Given the description of an element on the screen output the (x, y) to click on. 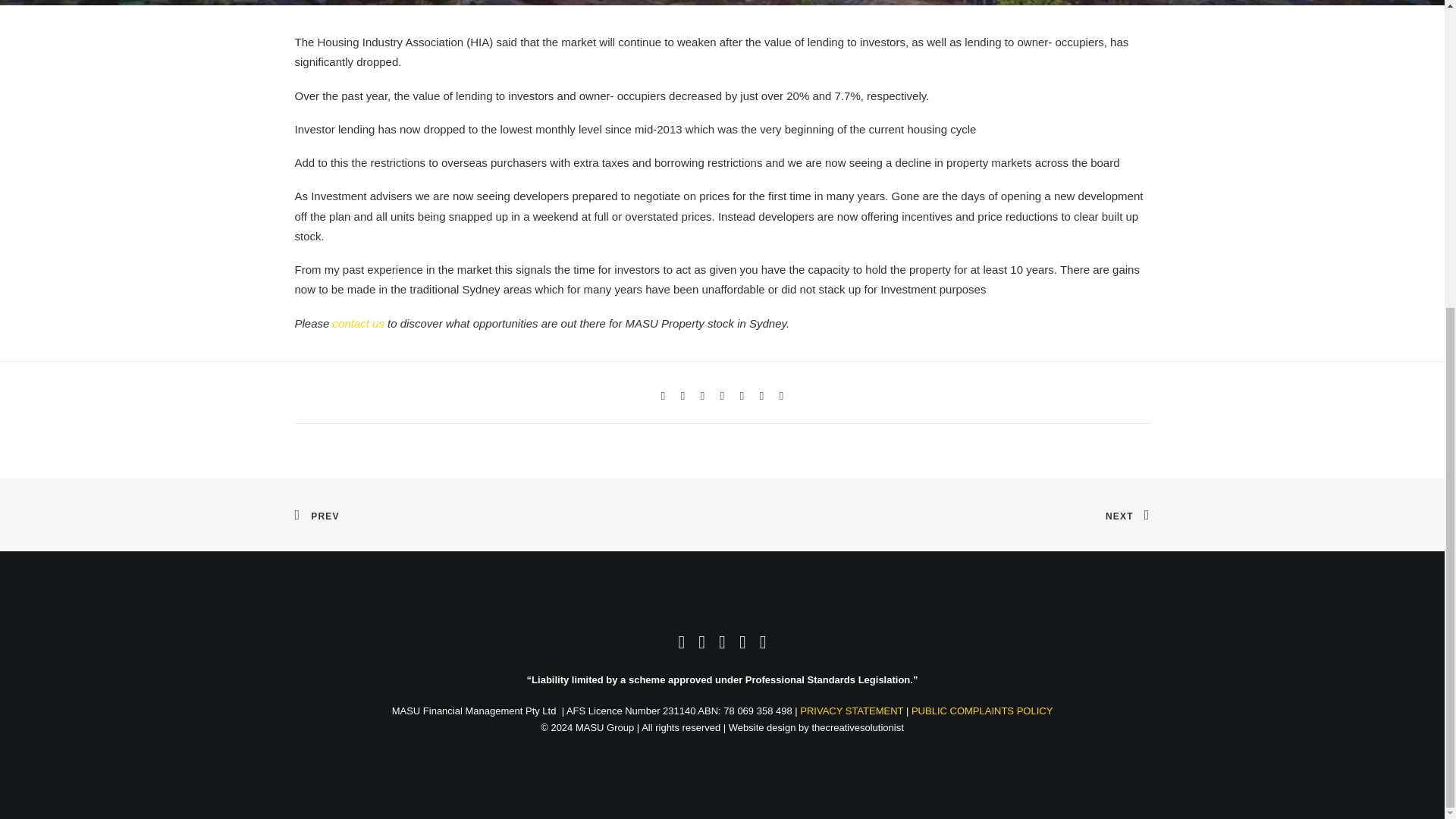
NEXT (1127, 514)
thecreativesolutionist (856, 727)
PRIVACY STATEMENT (850, 709)
PREV (316, 514)
contact us (358, 322)
PUBLIC COMPLAINTS POLICY (981, 709)
